Given the description of an element on the screen output the (x, y) to click on. 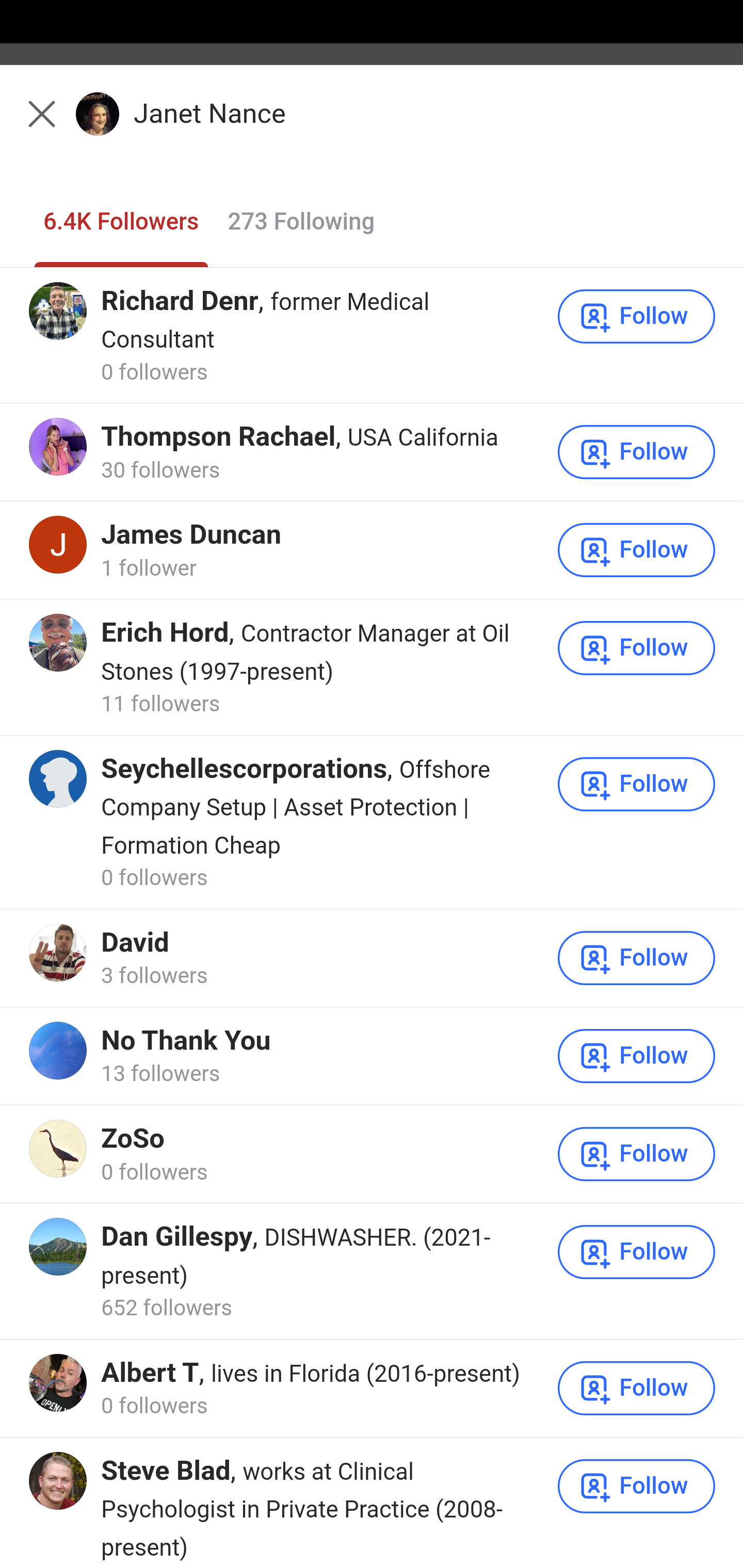
Back Janet Nance (371, 125)
Back (30, 125)
